Given the description of an element on the screen output the (x, y) to click on. 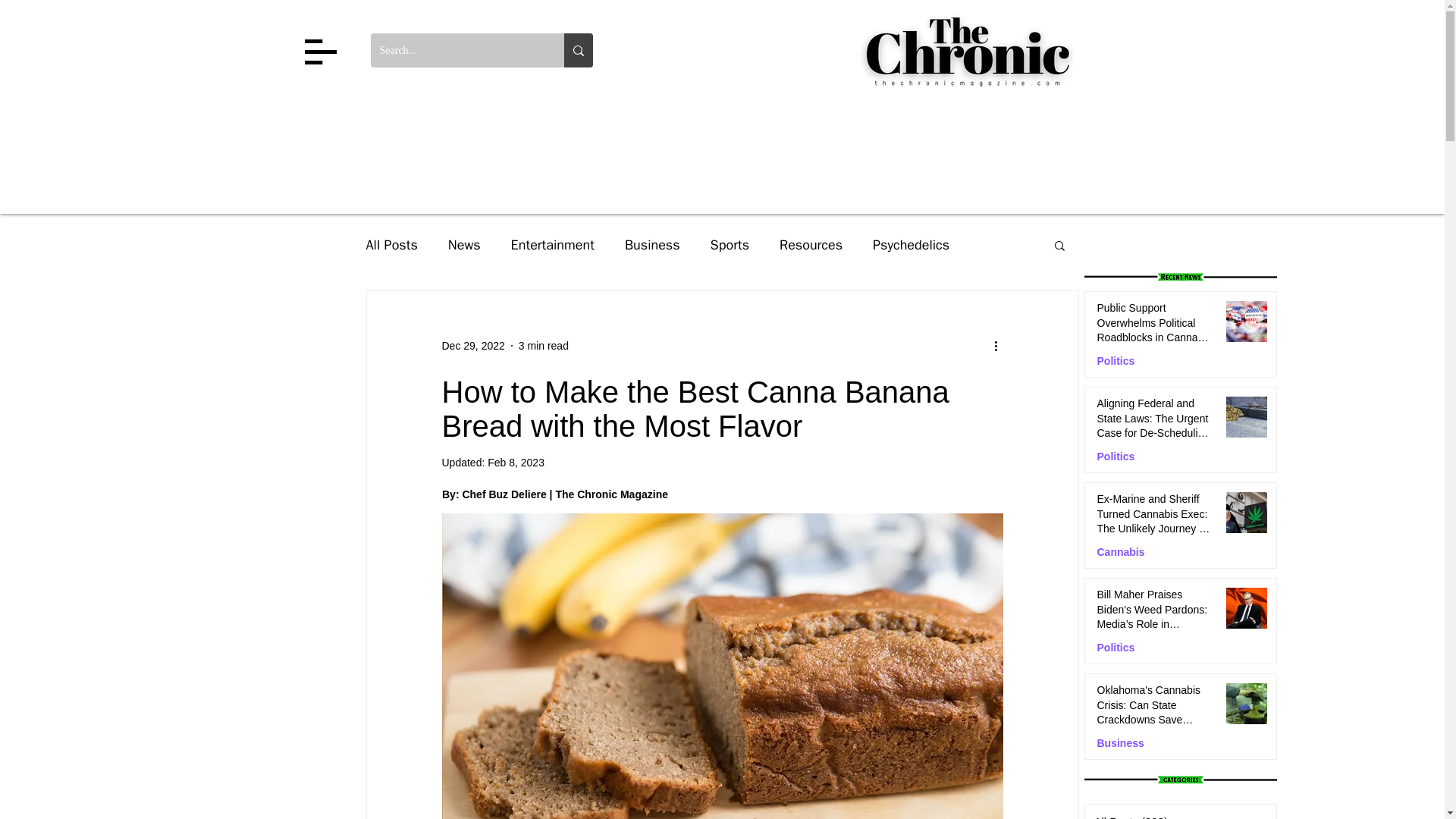
News (464, 244)
All Posts (390, 244)
Business (651, 244)
Politics (1115, 360)
Sports (729, 244)
Psychedelics (910, 244)
Feb 8, 2023 (515, 462)
Resources (810, 244)
3 min read (543, 345)
Entertainment (552, 244)
Dec 29, 2022 (472, 345)
